Given the description of an element on the screen output the (x, y) to click on. 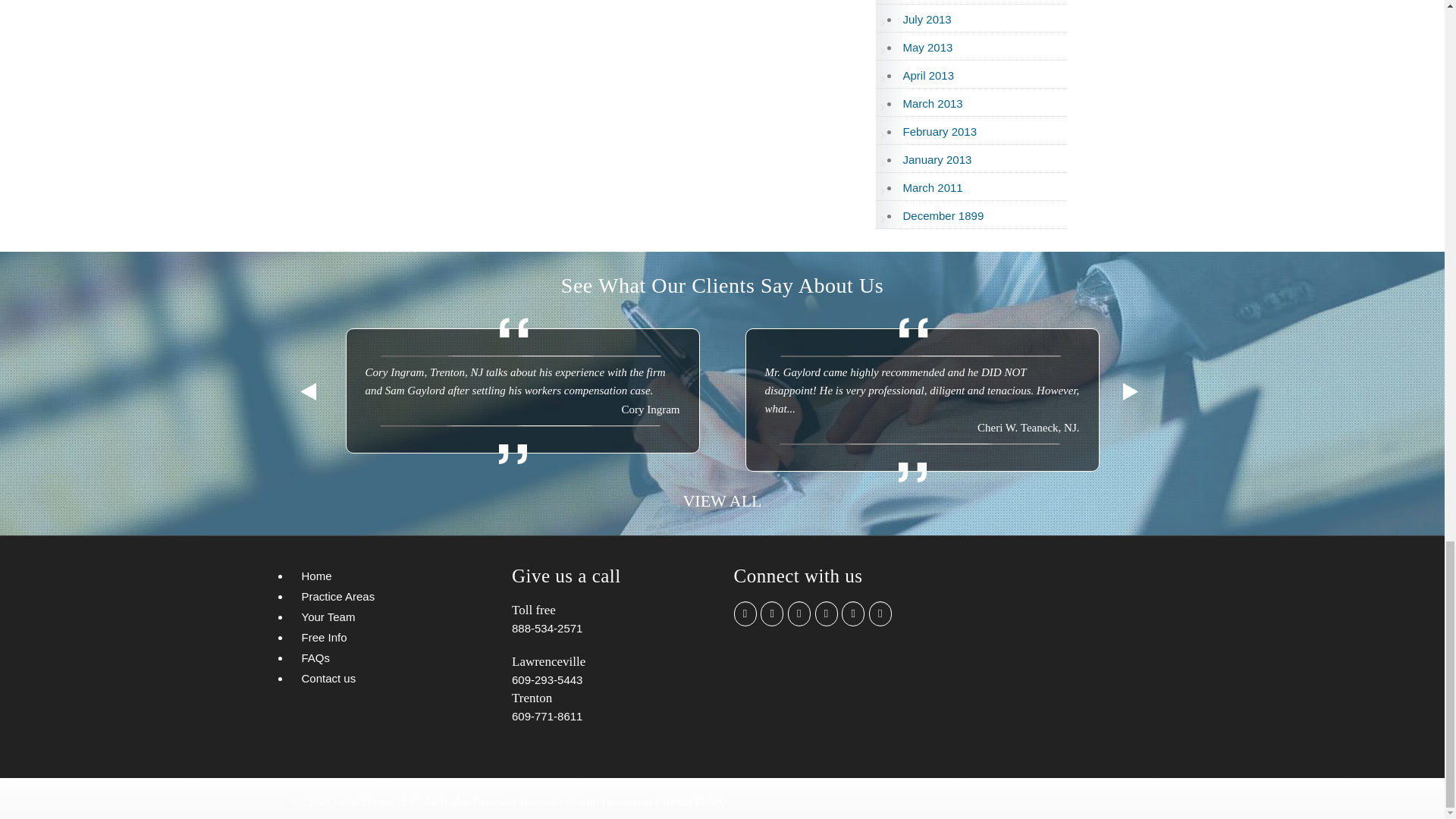
Gaylord Popp on Youtube (826, 613)
Gaylord Popp on Google (852, 613)
Gaylord Popp on Twitter (771, 613)
Gaylord Popp on Facebook (745, 613)
Gaylord Popp on Rss (880, 613)
Gaylord Popp on Linkedin (798, 613)
